Given the description of an element on the screen output the (x, y) to click on. 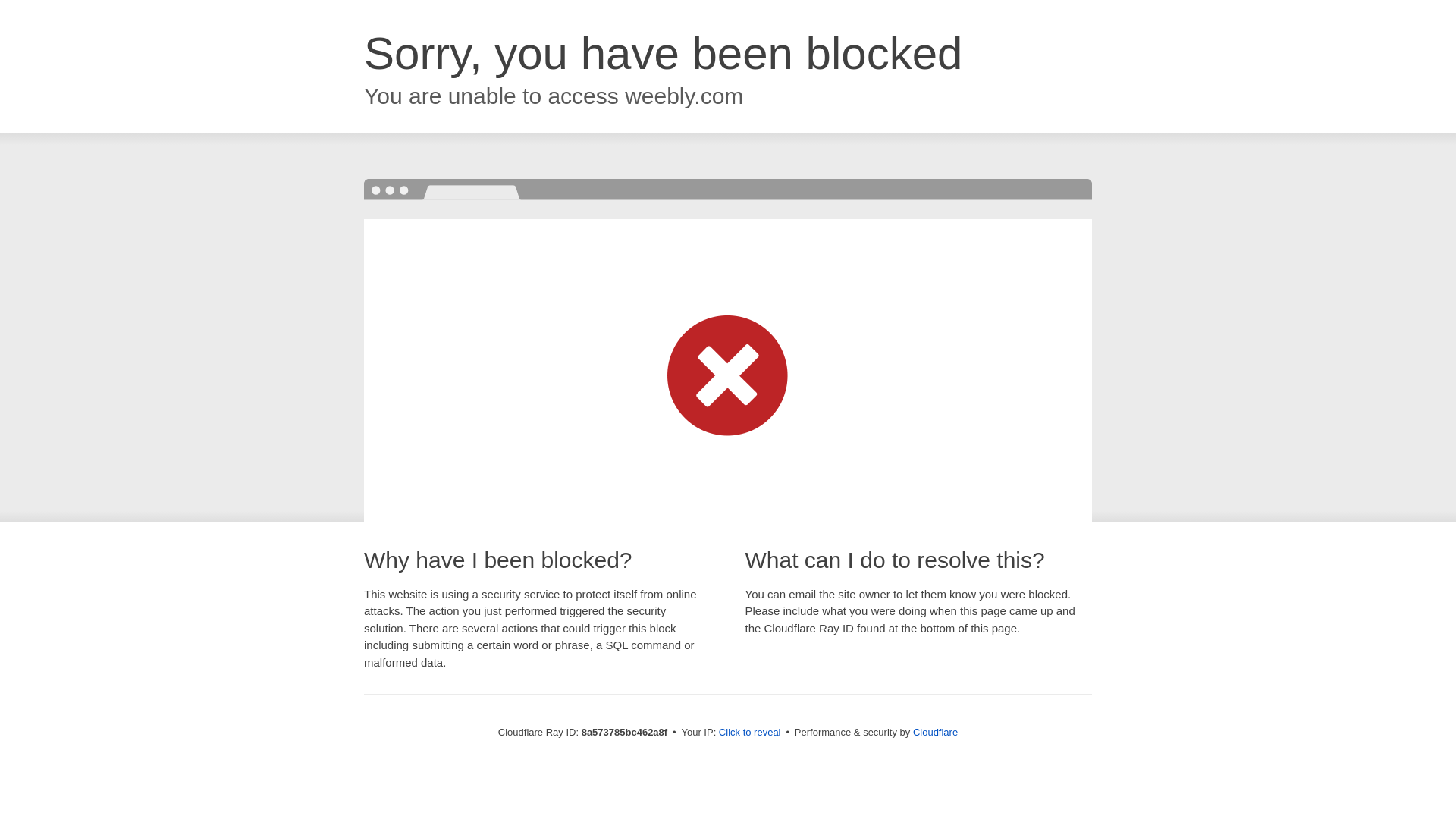
Cloudflare (935, 731)
Click to reveal (749, 732)
